Given the description of an element on the screen output the (x, y) to click on. 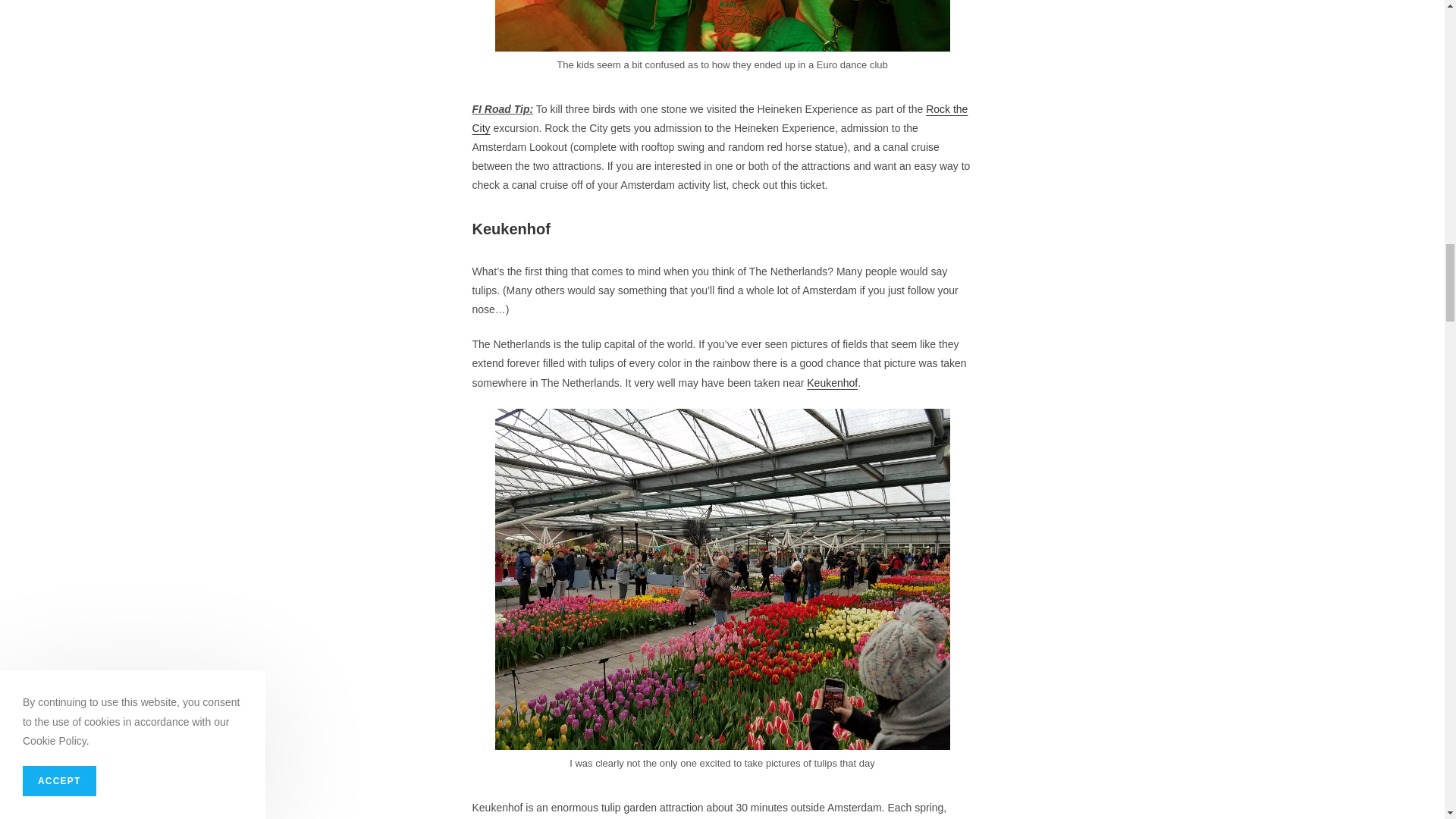
Keukenhof (831, 382)
Rock the City (719, 118)
